Given the description of an element on the screen output the (x, y) to click on. 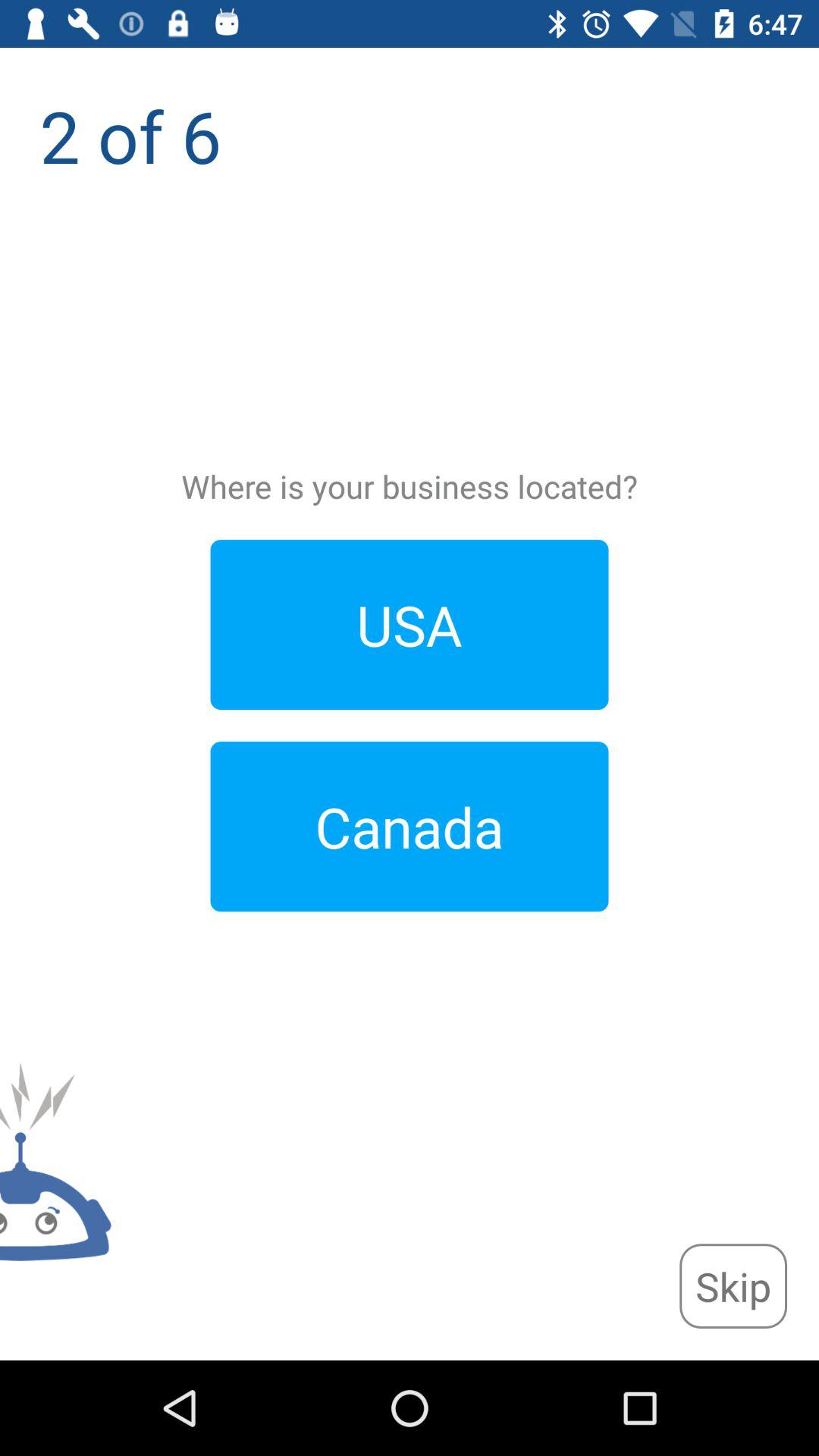
click the icon below usa button (409, 826)
